Given the description of an element on the screen output the (x, y) to click on. 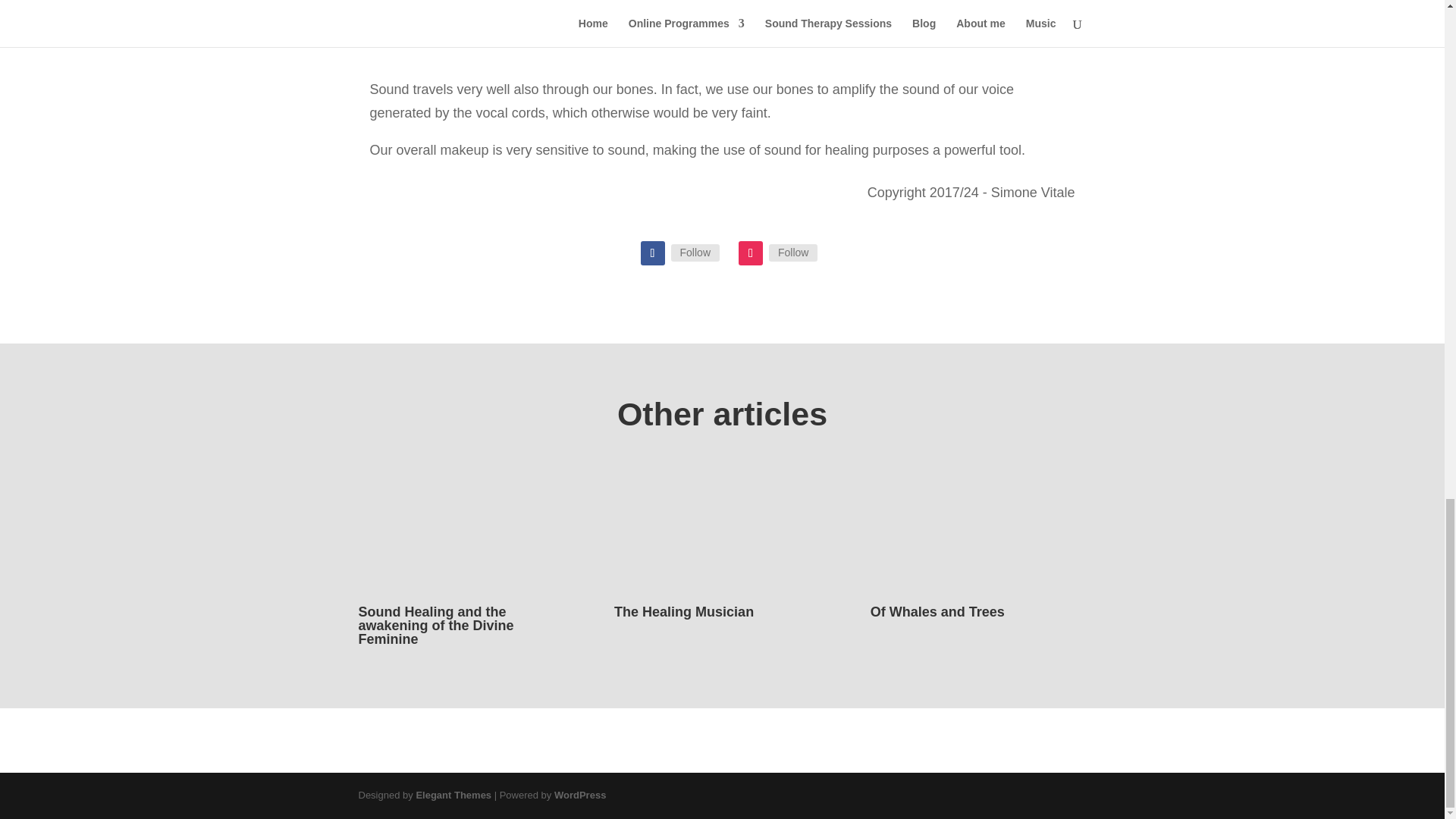
Elegant Themes (453, 794)
Follow on Facebook (652, 252)
The Healing Musician (684, 611)
Of Whales and Trees (937, 611)
Follow on Instagram (750, 252)
Instagram (792, 252)
Facebook (695, 252)
WordPress (579, 794)
Premium WordPress Themes (453, 794)
Sound Healing and the awakening of the Divine Feminine (435, 625)
